Given the description of an element on the screen output the (x, y) to click on. 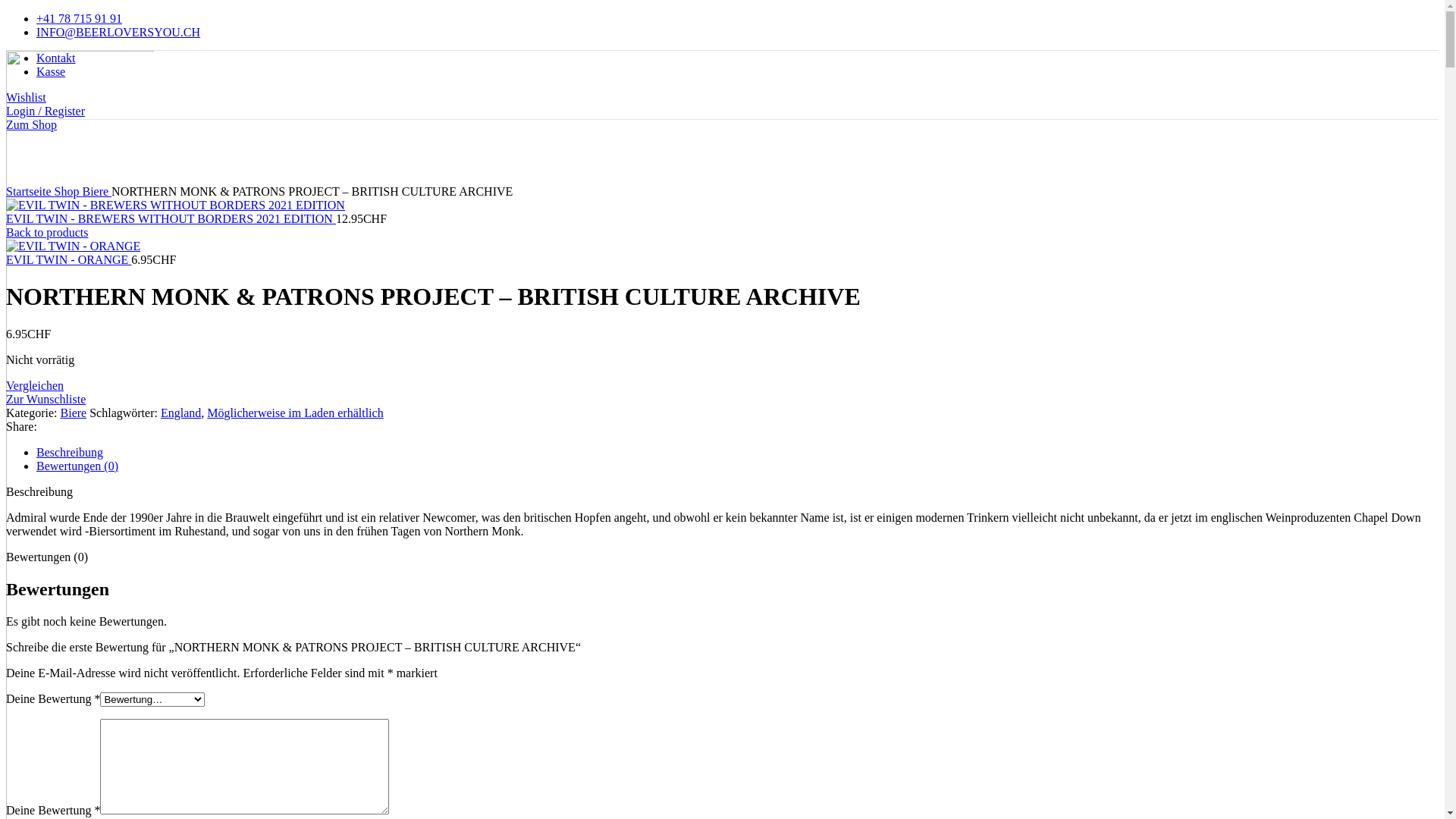
Shop Element type: text (68, 191)
Biere Element type: text (96, 191)
Back to products Element type: text (46, 231)
Bewertungen (0) Element type: text (77, 465)
EVIL TWIN - BREWERS WITHOUT BORDERS 2021 EDITION Element type: text (170, 218)
Wishlist Element type: text (26, 97)
Zum Shop Element type: text (31, 124)
Kasse Element type: text (50, 71)
+41 78 715 91 91 Element type: text (79, 18)
Zur Wunschliste Element type: text (45, 398)
Startseite Element type: text (30, 191)
EVIL TWIN - ORANGE Element type: text (68, 259)
Kontakt Element type: text (55, 57)
Biere Element type: text (73, 412)
Beschreibung Element type: text (69, 451)
Login / Register Element type: text (45, 110)
England Element type: text (180, 412)
Vergleichen Element type: text (34, 385)
INFO@BEERLOVERSYOU.CH Element type: text (118, 31)
